Given the description of an element on the screen output the (x, y) to click on. 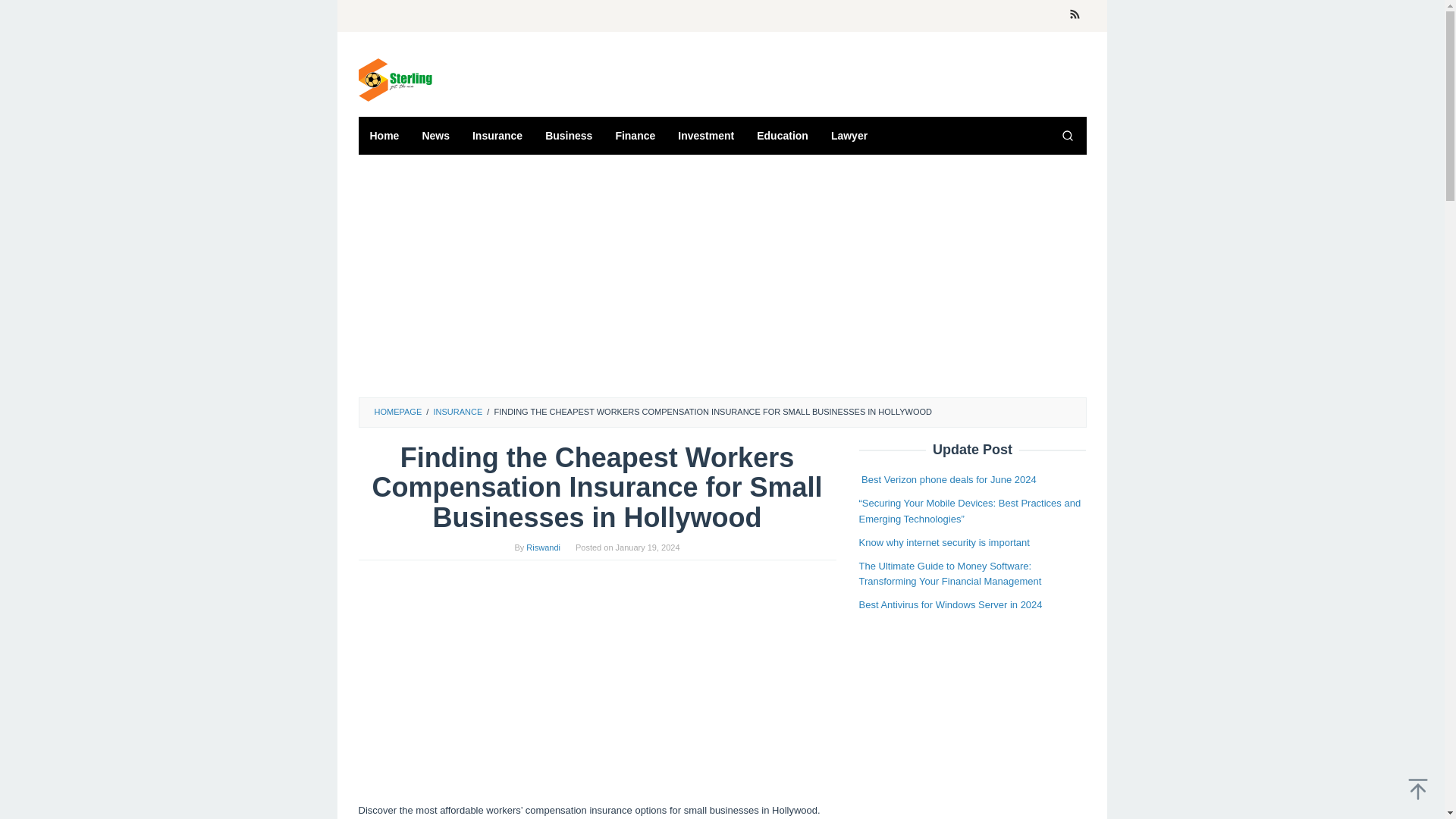
Business (569, 135)
News (435, 135)
Investment (705, 135)
Finance (635, 135)
Education (782, 135)
STERLING (394, 79)
Home (384, 135)
INSURANCE (456, 411)
Advertisement (972, 723)
Advertisement (596, 681)
Insurance (497, 135)
 Best Verizon phone deals for June 2024 (947, 479)
Riswandi (542, 547)
Permalink to: Riswandi (542, 547)
